Given the description of an element on the screen output the (x, y) to click on. 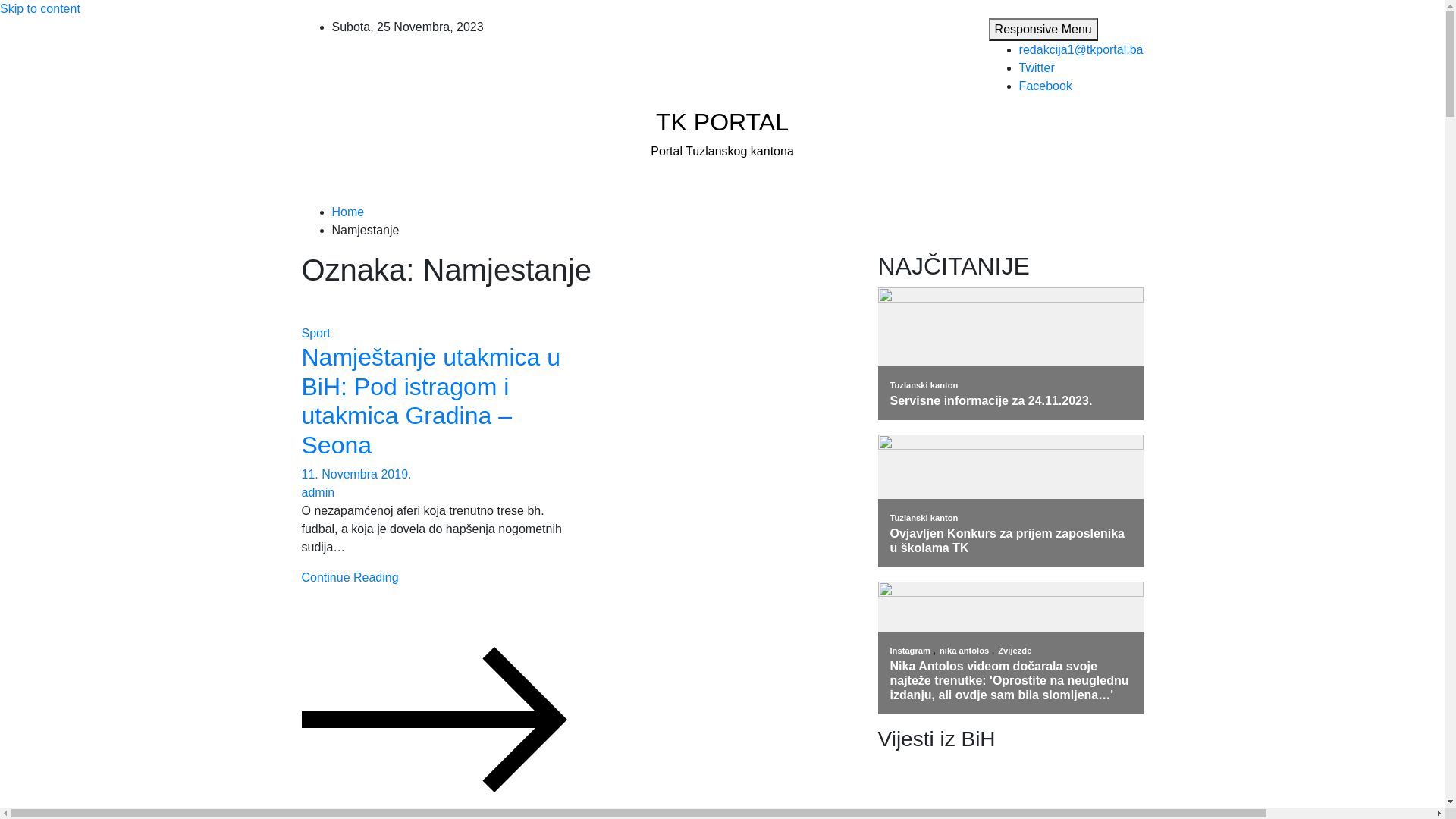
Continue Reading Element type: text (434, 647)
redakcija1@tkportal.ba Element type: text (1081, 49)
Home Element type: text (348, 211)
admin Element type: text (318, 492)
Skip to content Element type: text (40, 8)
11. Novembra 2019. Element type: text (356, 473)
Tuzlanski kanton Element type: text (924, 384)
Instagram Element type: text (911, 650)
Twitter Element type: text (1036, 67)
Tuzlanski kanton Element type: text (924, 517)
Responsive Menu Element type: text (1043, 29)
nika antolos Element type: text (965, 650)
Facebook Element type: text (1045, 85)
TK PORTAL Element type: text (721, 121)
Servisne informacije za 24.11.2023. Element type: text (1010, 400)
Sport Element type: text (315, 332)
Zvijezde Element type: text (1014, 650)
